Given the description of an element on the screen output the (x, y) to click on. 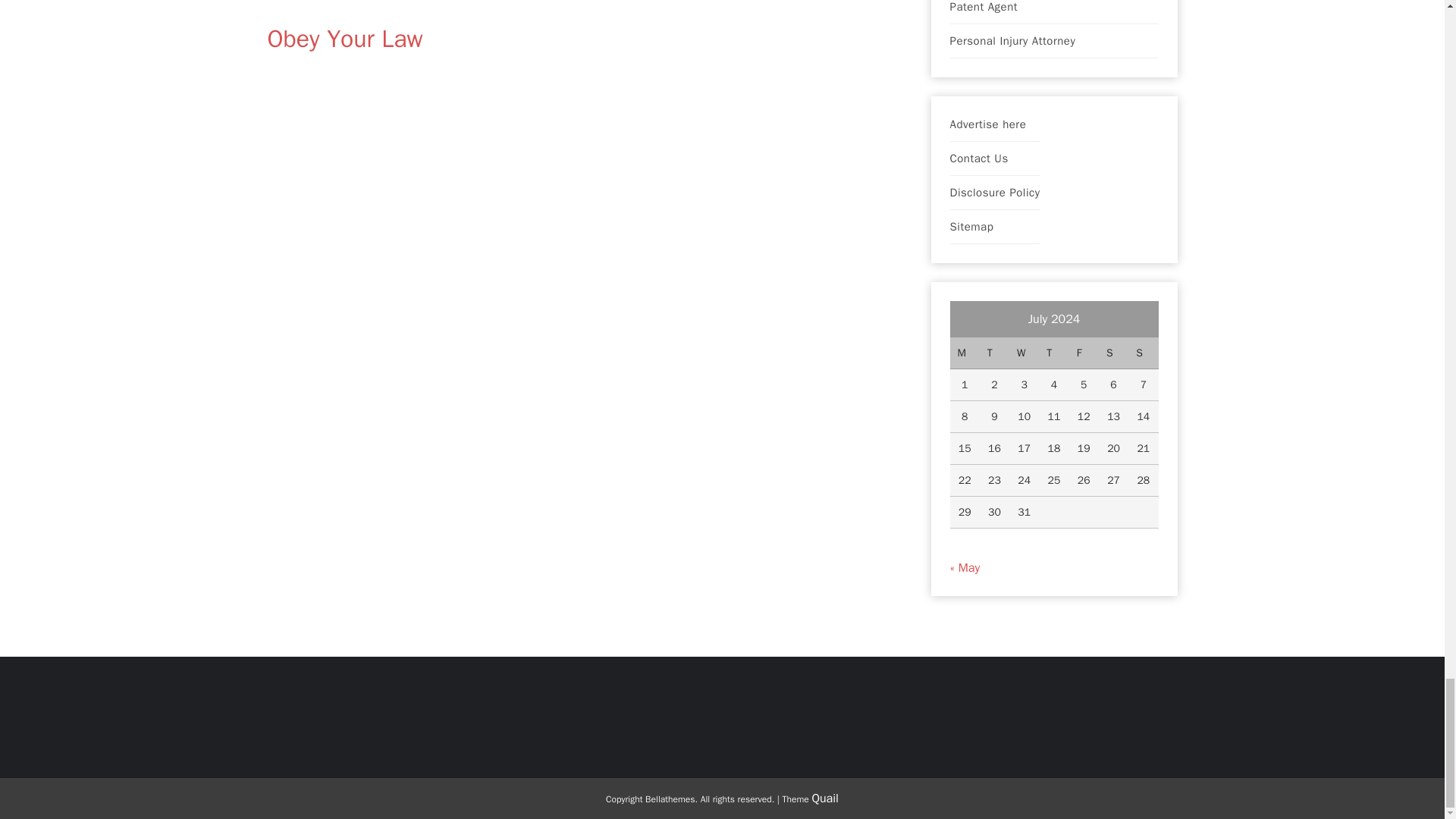
Friday (1083, 353)
Wednesday (1024, 353)
Thursday (1053, 353)
Saturday (1113, 353)
Tuesday (994, 353)
Sunday (1142, 353)
Monday (963, 353)
